Given the description of an element on the screen output the (x, y) to click on. 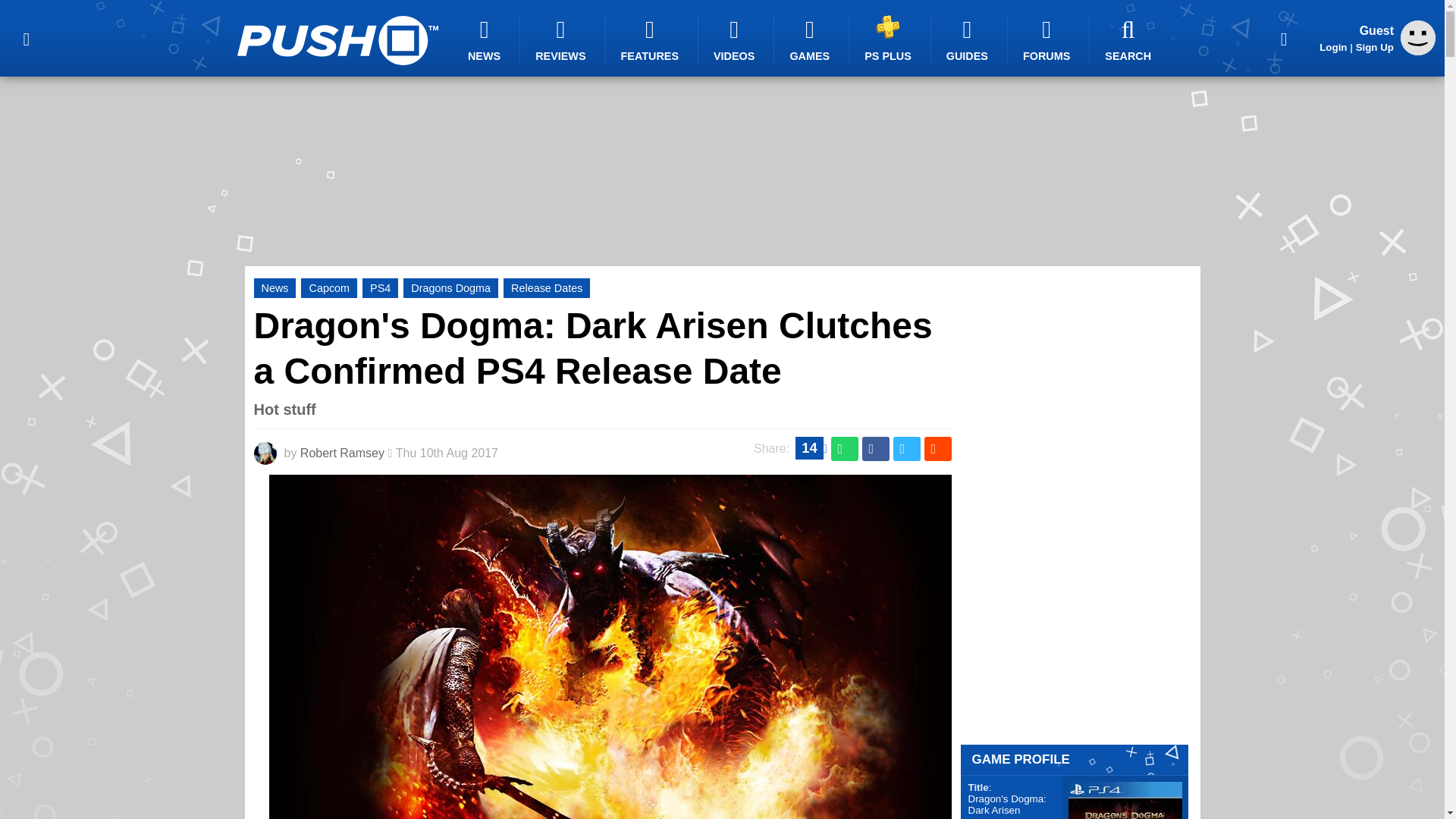
Menu (26, 37)
Share this on WhatsApp (845, 448)
Push Square (336, 40)
Release Dates (546, 288)
Robert Ramsey (341, 452)
FORUMS (1048, 39)
GUIDES (969, 39)
REVIEWS (562, 39)
News (274, 288)
GAMES (811, 39)
Guest (1417, 51)
SEARCH (1129, 39)
Dragons Dogma (450, 288)
VIDEOS (736, 39)
Sign Up (1374, 47)
